Given the description of an element on the screen output the (x, y) to click on. 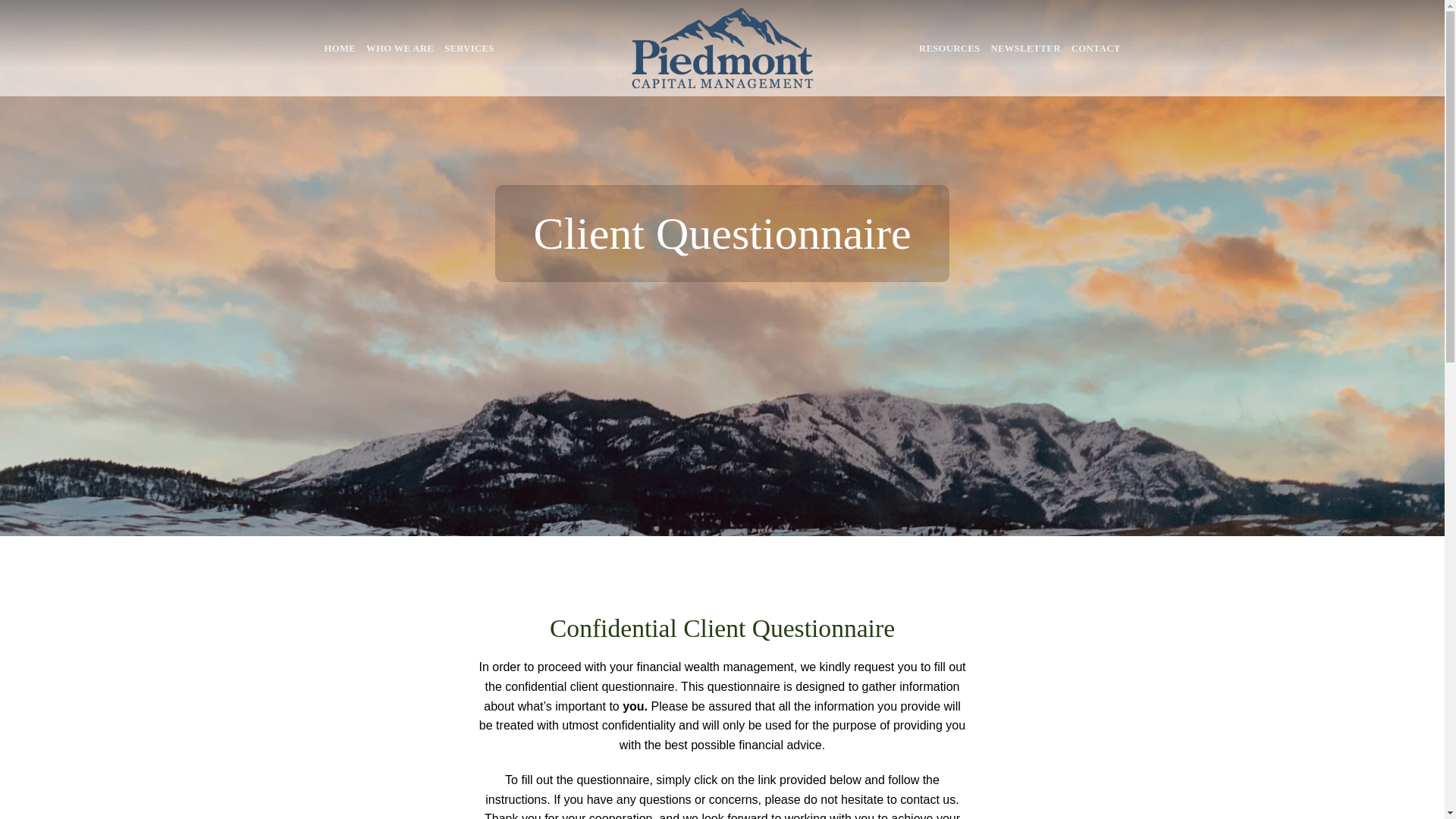
CONTACT (1096, 48)
HOME (340, 48)
WHO WE ARE (399, 48)
SERVICES (469, 48)
NEWSLETTER (1024, 48)
RESOURCES (948, 48)
